Given the description of an element on the screen output the (x, y) to click on. 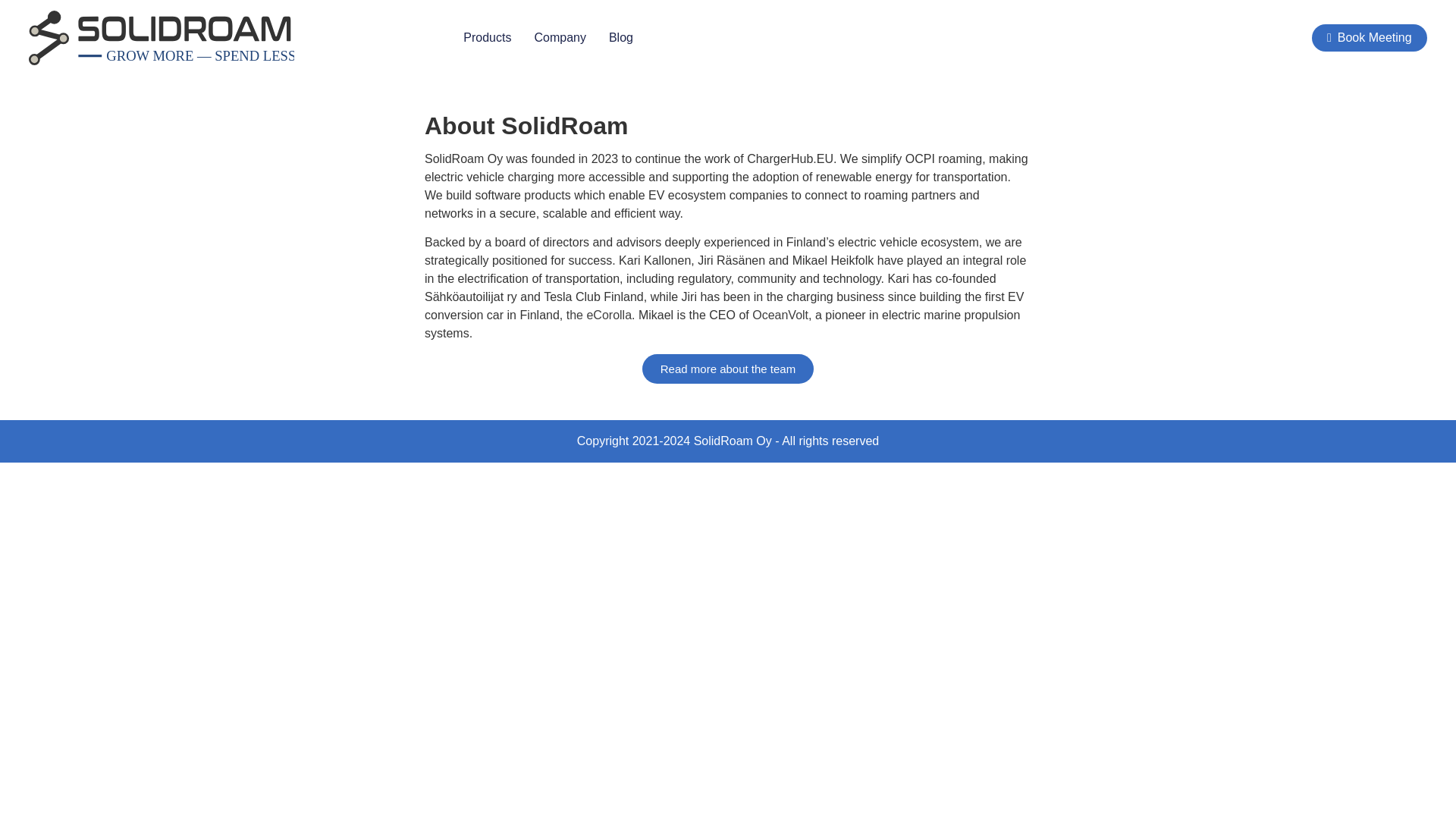
Products (487, 37)
the eCorolla (598, 314)
Blog (620, 37)
Book Meeting (1368, 37)
OceanVolt (780, 314)
Company (559, 37)
Read more about the team (727, 368)
